Given the description of an element on the screen output the (x, y) to click on. 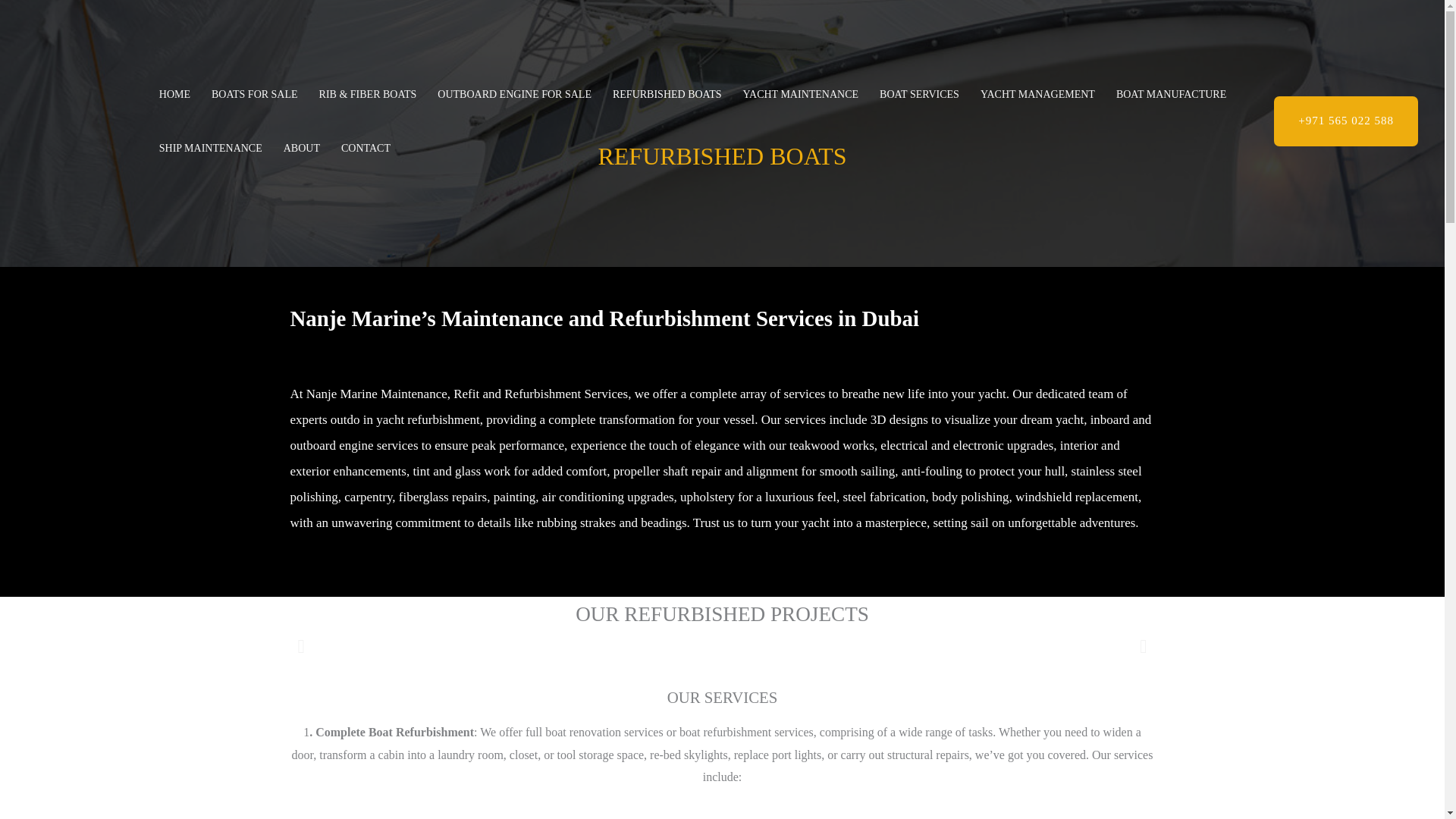
ABOUT (301, 148)
BOATS FOR SALE (254, 94)
YACHT MANAGEMENT (1037, 94)
BOAT MANUFACTURE (1170, 94)
CONTACT (365, 148)
OUTBOARD ENGINE FOR SALE (514, 94)
HOME (174, 94)
SHIP MAINTENANCE (210, 148)
REFURBISHED BOATS (667, 94)
BOAT SERVICES (919, 94)
YACHT MAINTENANCE (800, 94)
